Given the description of an element on the screen output the (x, y) to click on. 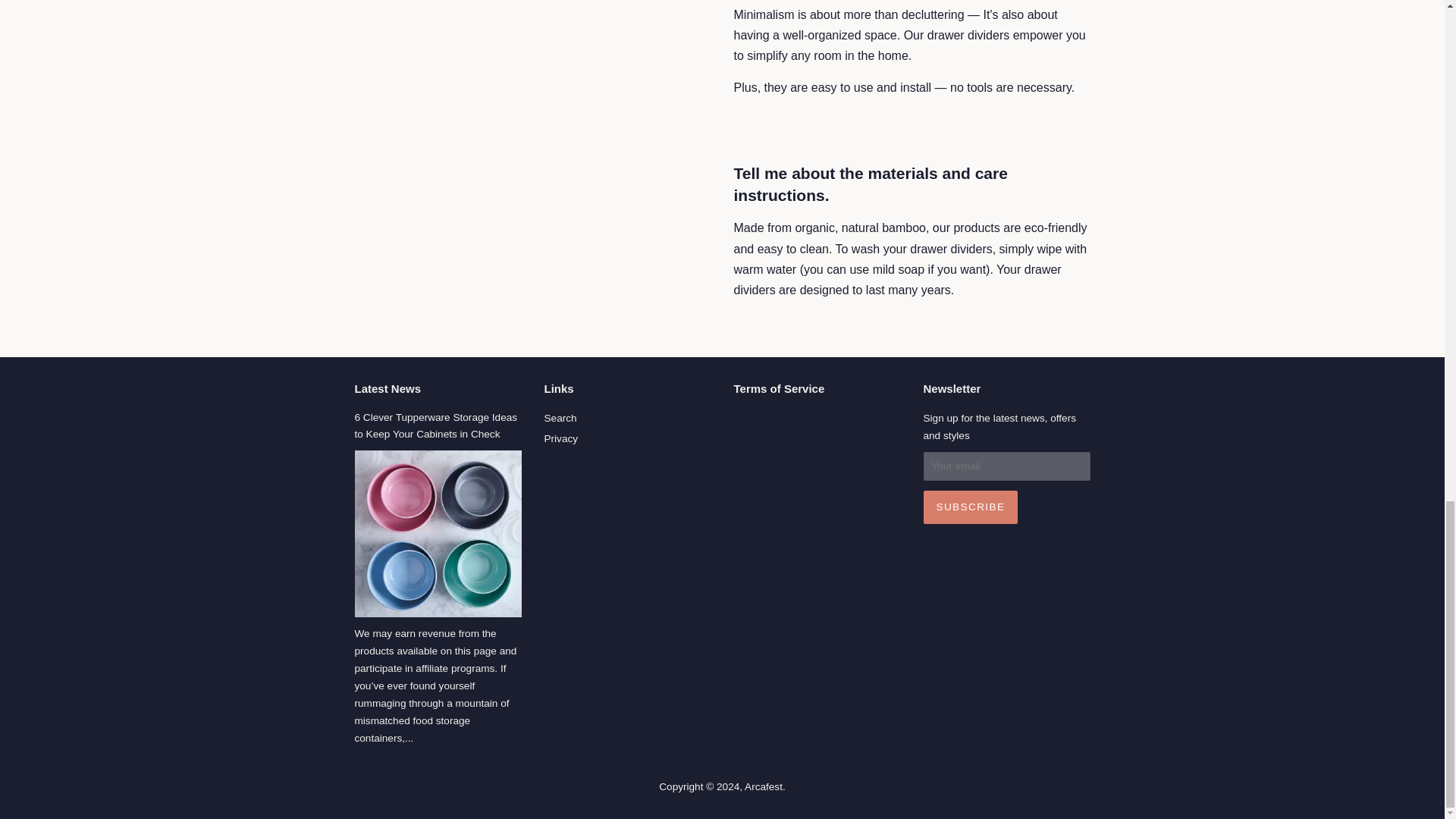
Subscribe (970, 507)
Arcafest (763, 786)
Latest News (388, 388)
Search (560, 418)
Privacy (561, 438)
Subscribe (970, 507)
